Given the description of an element on the screen output the (x, y) to click on. 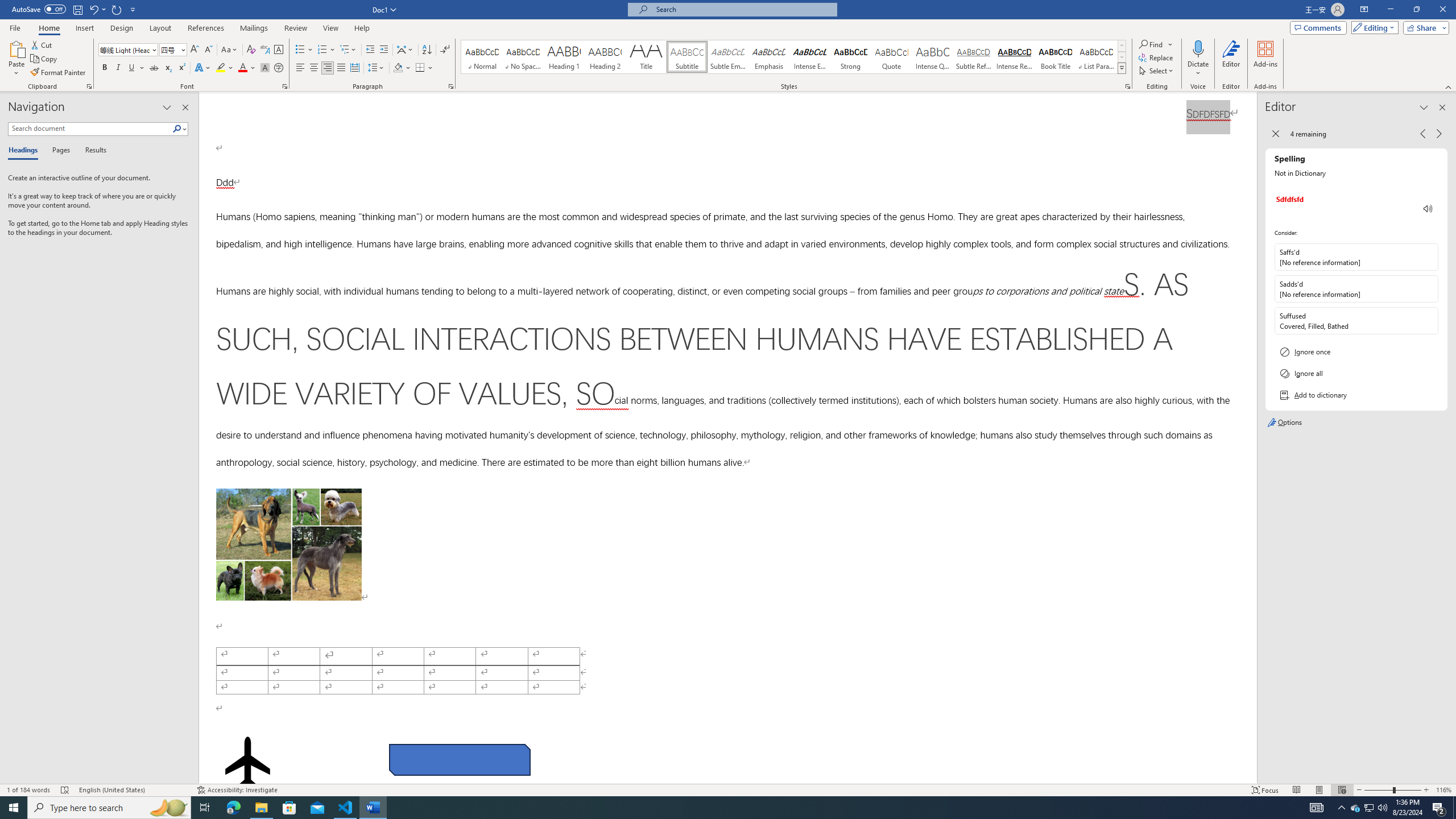
Spelling and Grammar Check Errors (65, 790)
Open (182, 49)
Multilevel List (347, 49)
Headings (25, 150)
Subtle Reference (973, 56)
Repeat Paragraph Alignment (117, 9)
Align Right (327, 67)
Row Down (1121, 56)
Text Effects and Typography (202, 67)
Quick Access Toolbar (74, 9)
Class: NetUIScrollBar (1251, 437)
